Given the description of an element on the screen output the (x, y) to click on. 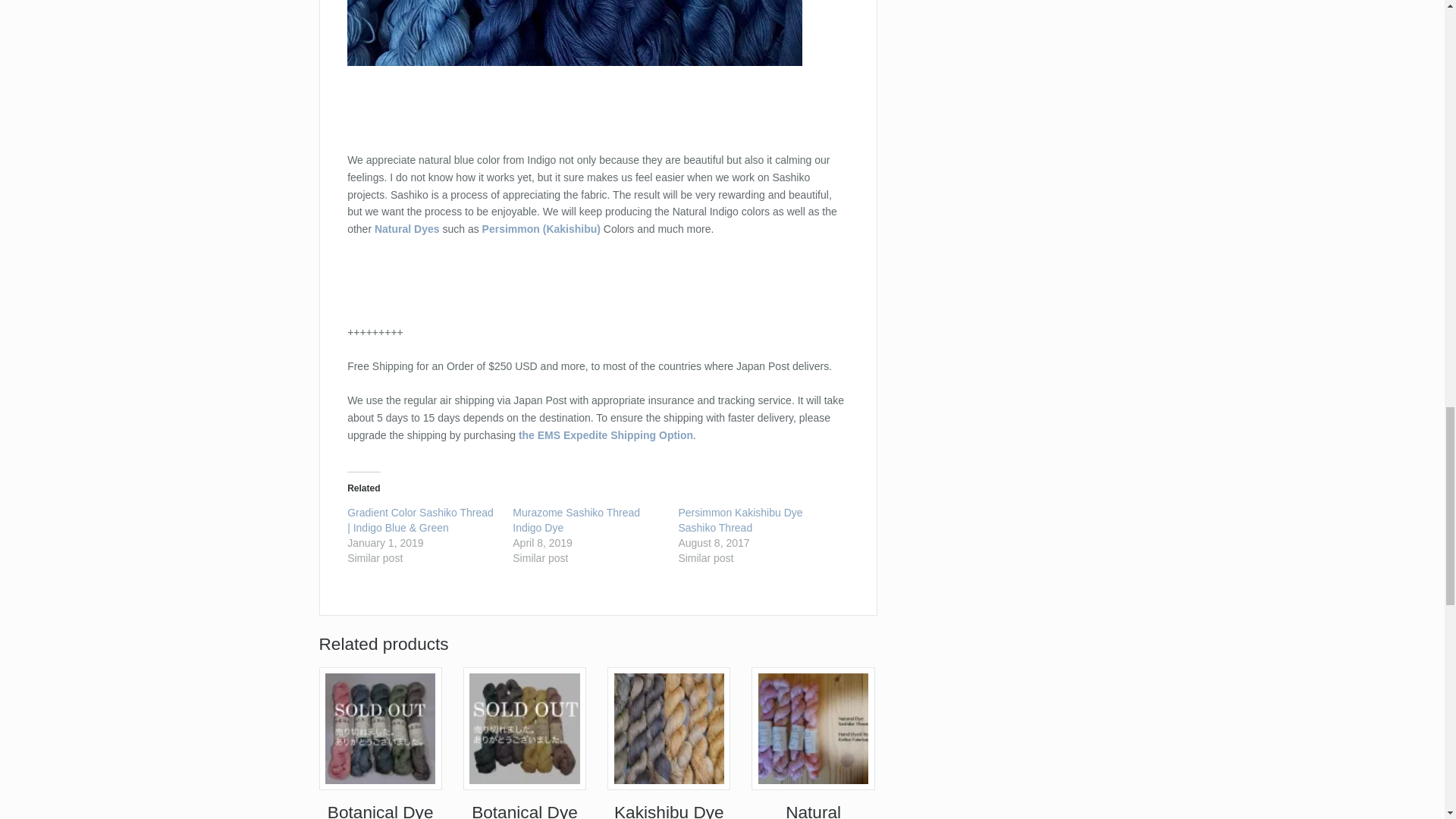
the EMS Expedite Shipping Option (605, 435)
Natural Dyes (406, 228)
Murazome Sashiko Thread Indigo Dye (576, 519)
Persimmon Kakishibu Dye Sashiko Thread (740, 519)
